Given the description of an element on the screen output the (x, y) to click on. 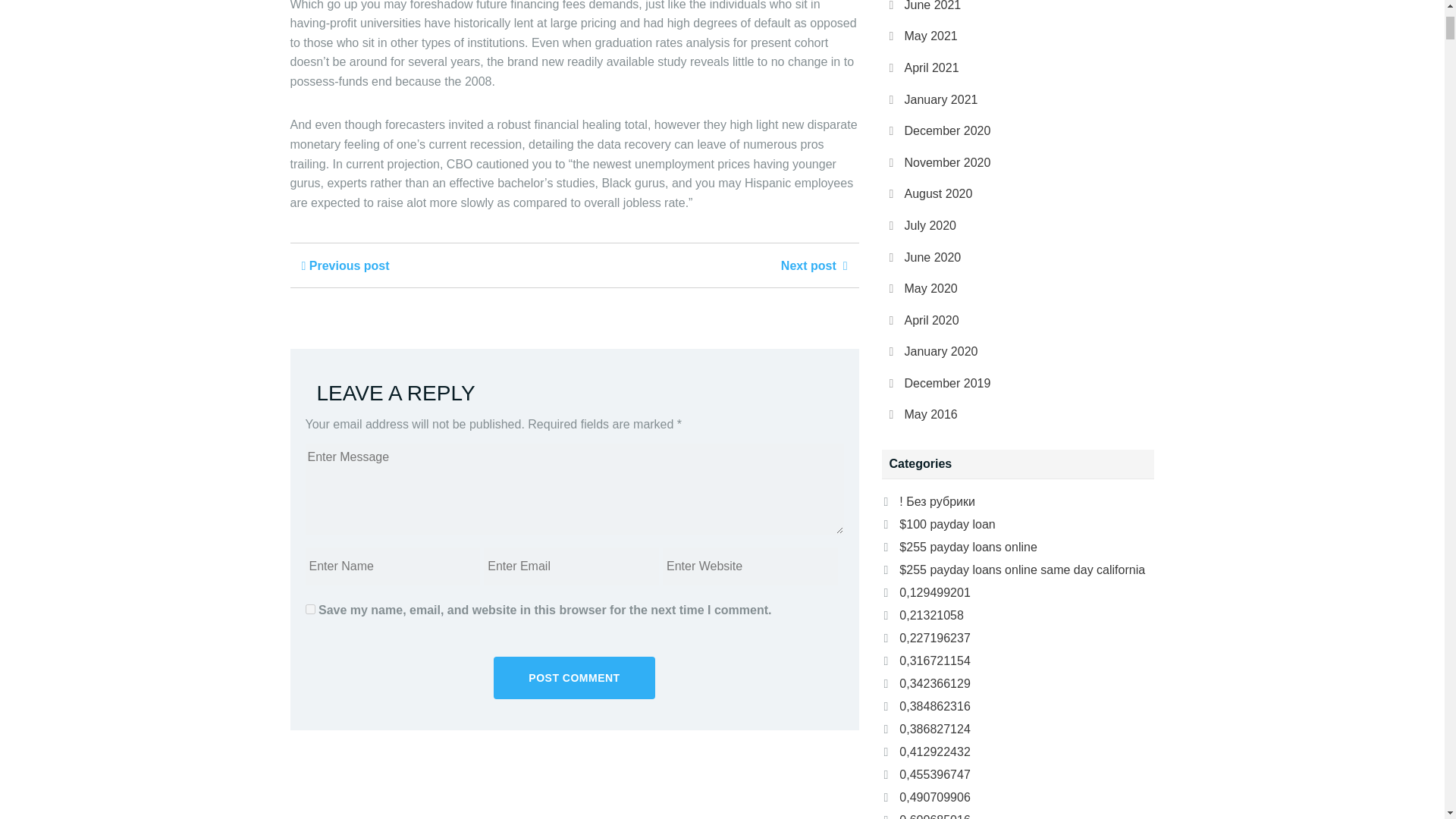
Next post  (813, 265)
Post Comment (574, 677)
Post Comment (574, 677)
yes (309, 609)
 Previous post (345, 265)
